Given the description of an element on the screen output the (x, y) to click on. 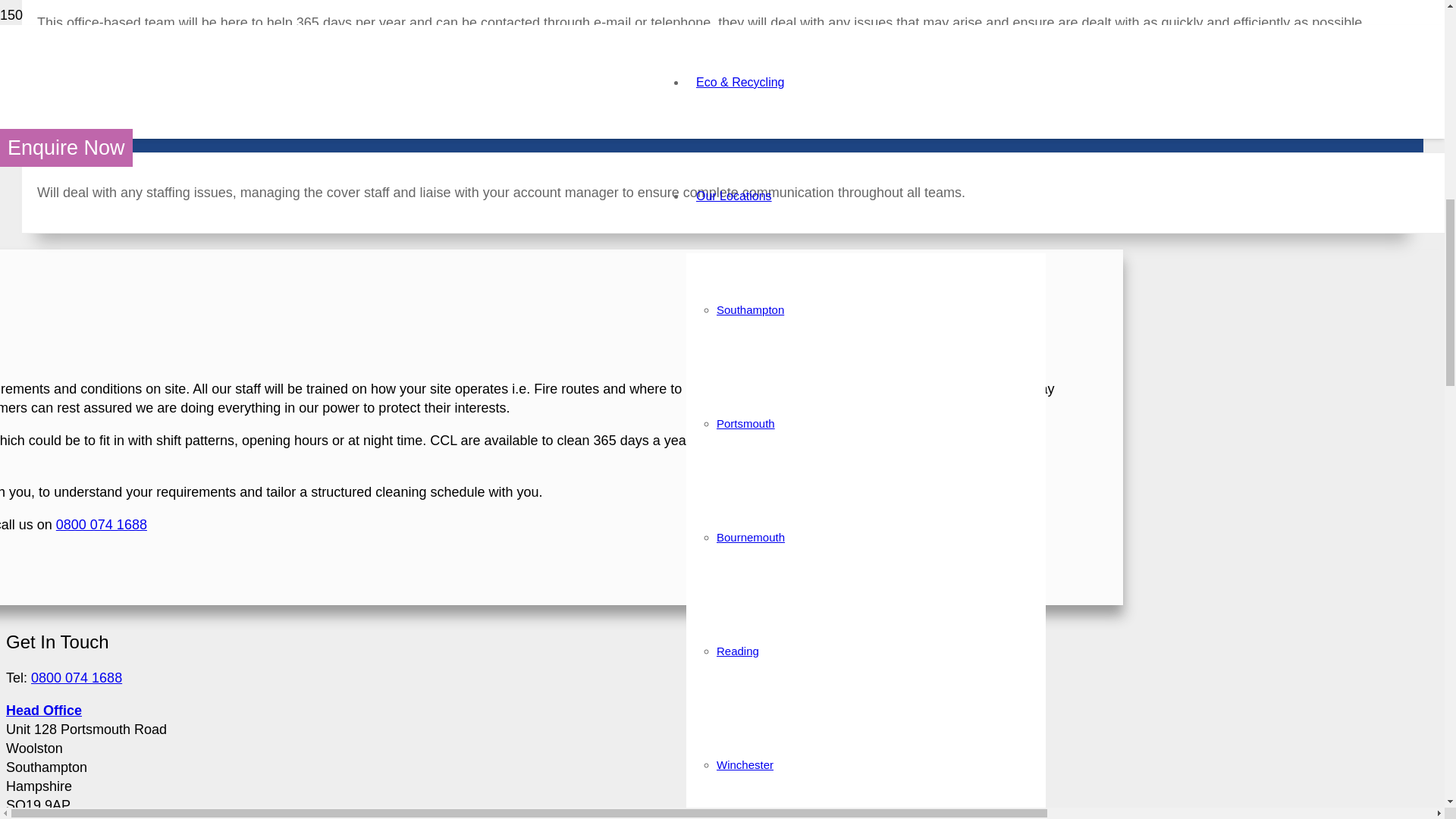
Contact Us (725, 286)
Head Office (43, 710)
0800 074 1688 (76, 677)
0800 074 1688 (101, 524)
Basingstoke (747, 173)
Join Our Team (753, 400)
Poole (730, 59)
